Given the description of an element on the screen output the (x, y) to click on. 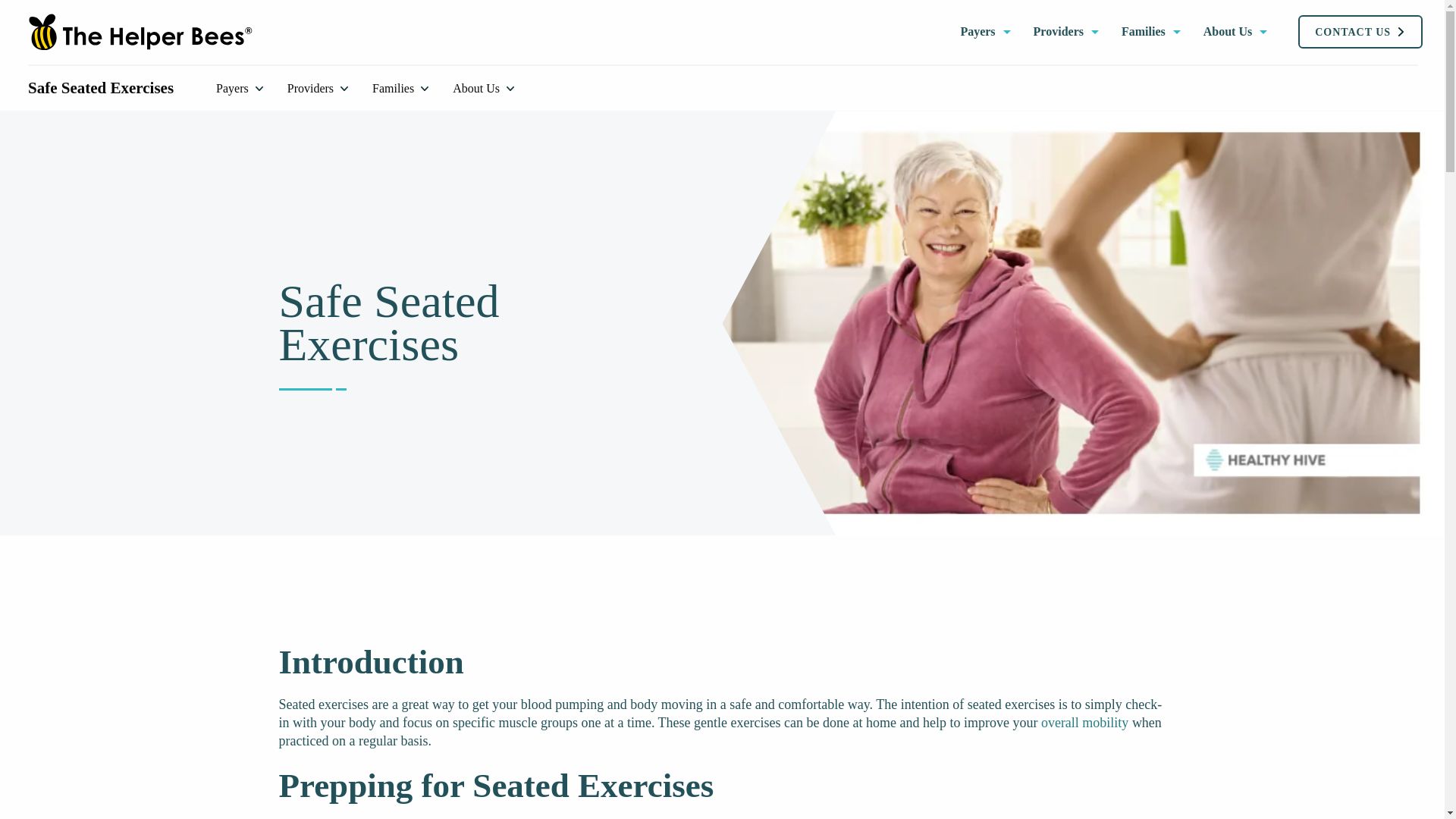
Safe Seated Exercises (100, 88)
Payers (239, 88)
About Us (1235, 31)
About Us (483, 88)
Providers (317, 88)
CONTACT US (1360, 31)
Families (1150, 31)
Payers (984, 31)
Families (400, 88)
Providers (1066, 31)
